Given the description of an element on the screen output the (x, y) to click on. 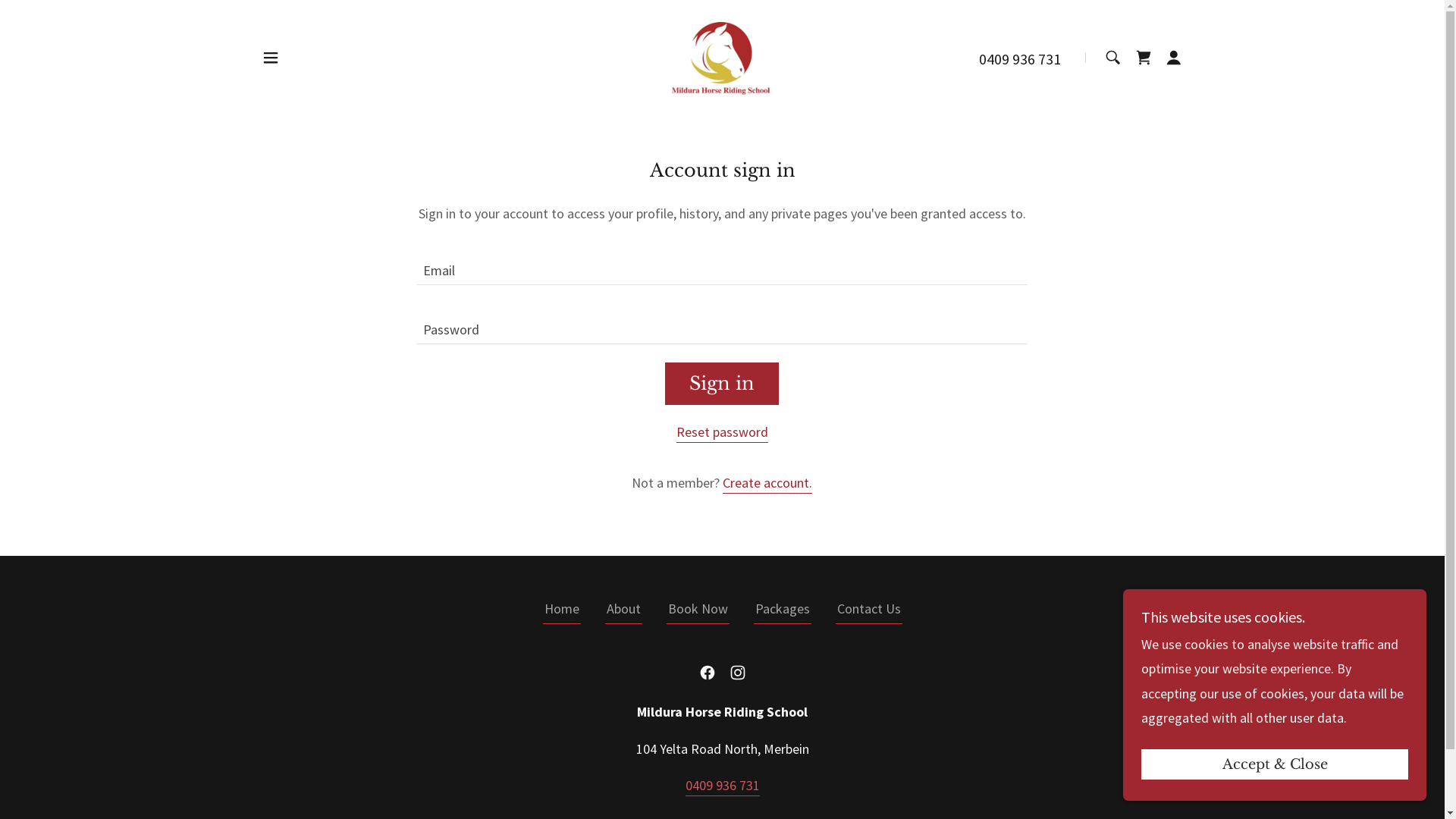
Reset password Element type: text (722, 432)
Mildura Horse Riding School Element type: hover (721, 55)
Contact Us Element type: text (868, 611)
Accept & Close Element type: text (1274, 764)
Sign in Element type: text (721, 383)
0409 936 731 Element type: text (722, 786)
Packages Element type: text (782, 611)
About Element type: text (623, 611)
Create account. Element type: text (767, 483)
Book Now Element type: text (696, 611)
Home Element type: text (561, 611)
0409 936 731 Element type: text (1019, 57)
